Given the description of an element on the screen output the (x, y) to click on. 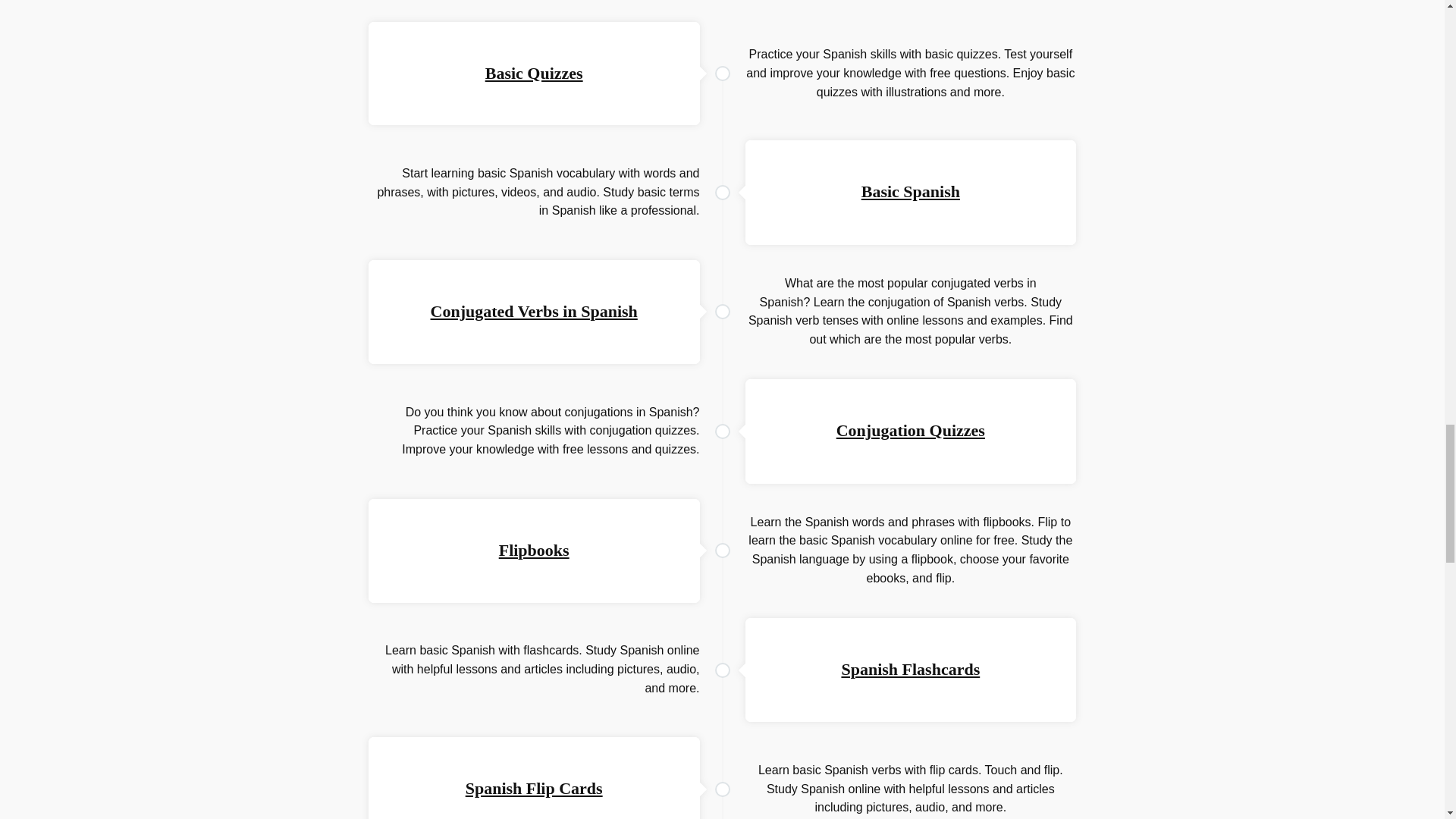
Basic Quizzes (533, 72)
Basic Spanish (910, 190)
